Given the description of an element on the screen output the (x, y) to click on. 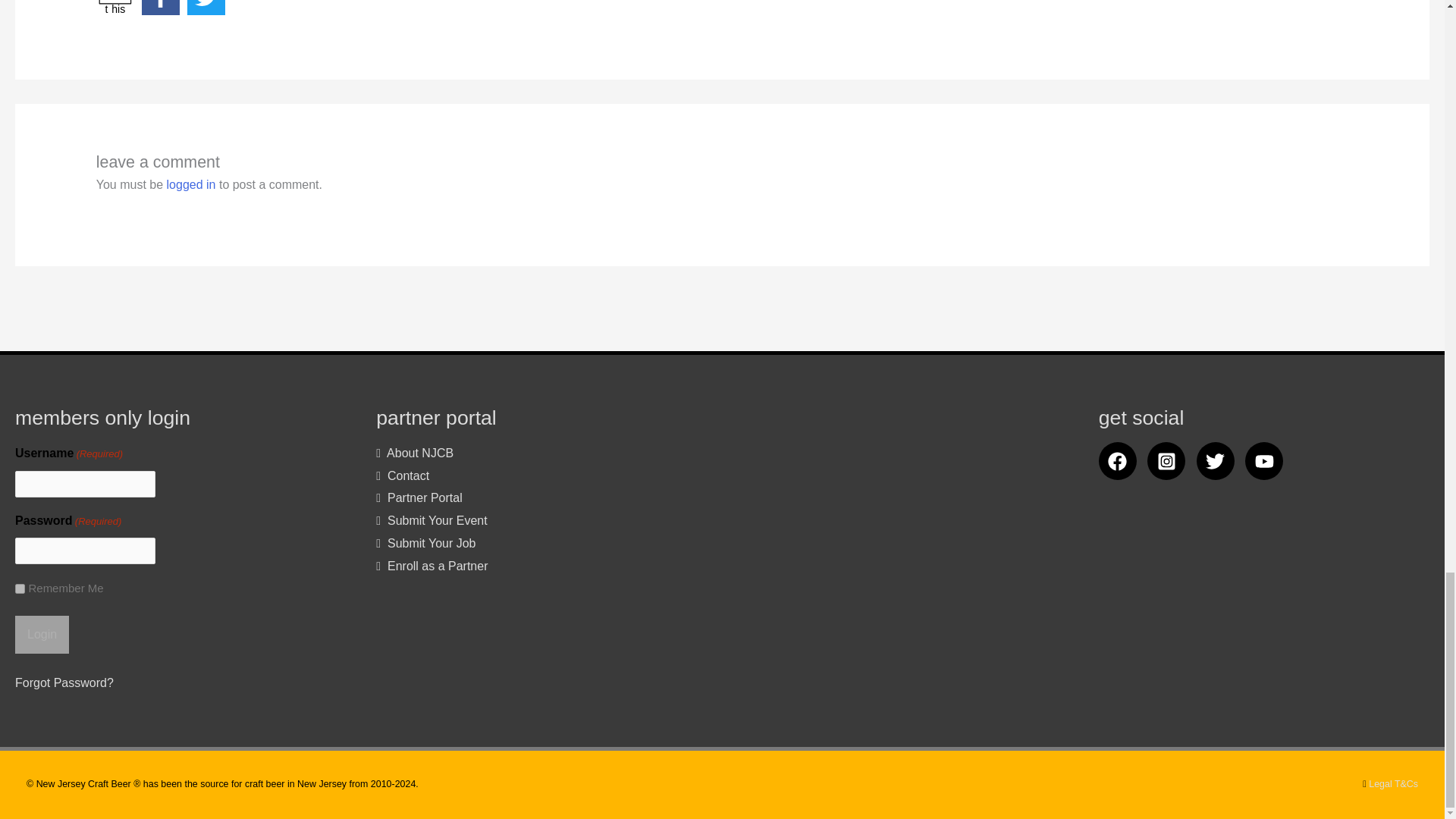
1 (19, 588)
Login (41, 633)
